Given the description of an element on the screen output the (x, y) to click on. 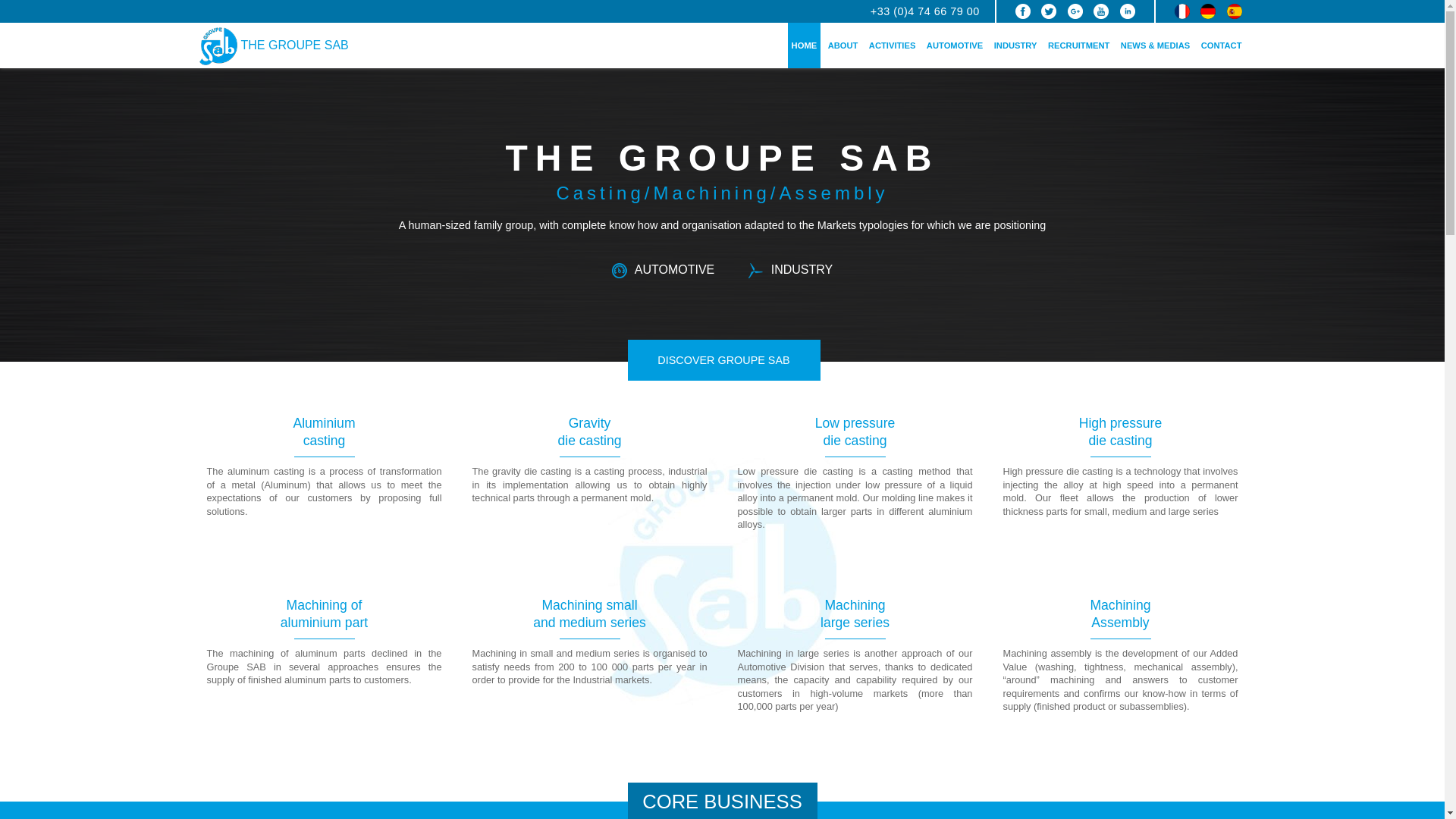
Twitter (1047, 11)
CONTACT (1221, 44)
AUTOMOTIVE (955, 44)
ACTIVITIES (892, 44)
Facebook (1022, 11)
Groupe SAB (925, 11)
RECRUITMENT (1078, 44)
LinkedIn (1127, 11)
INDUSTRY (1015, 44)
DISCOVER GROUPE SAB (724, 359)
